Given the description of an element on the screen output the (x, y) to click on. 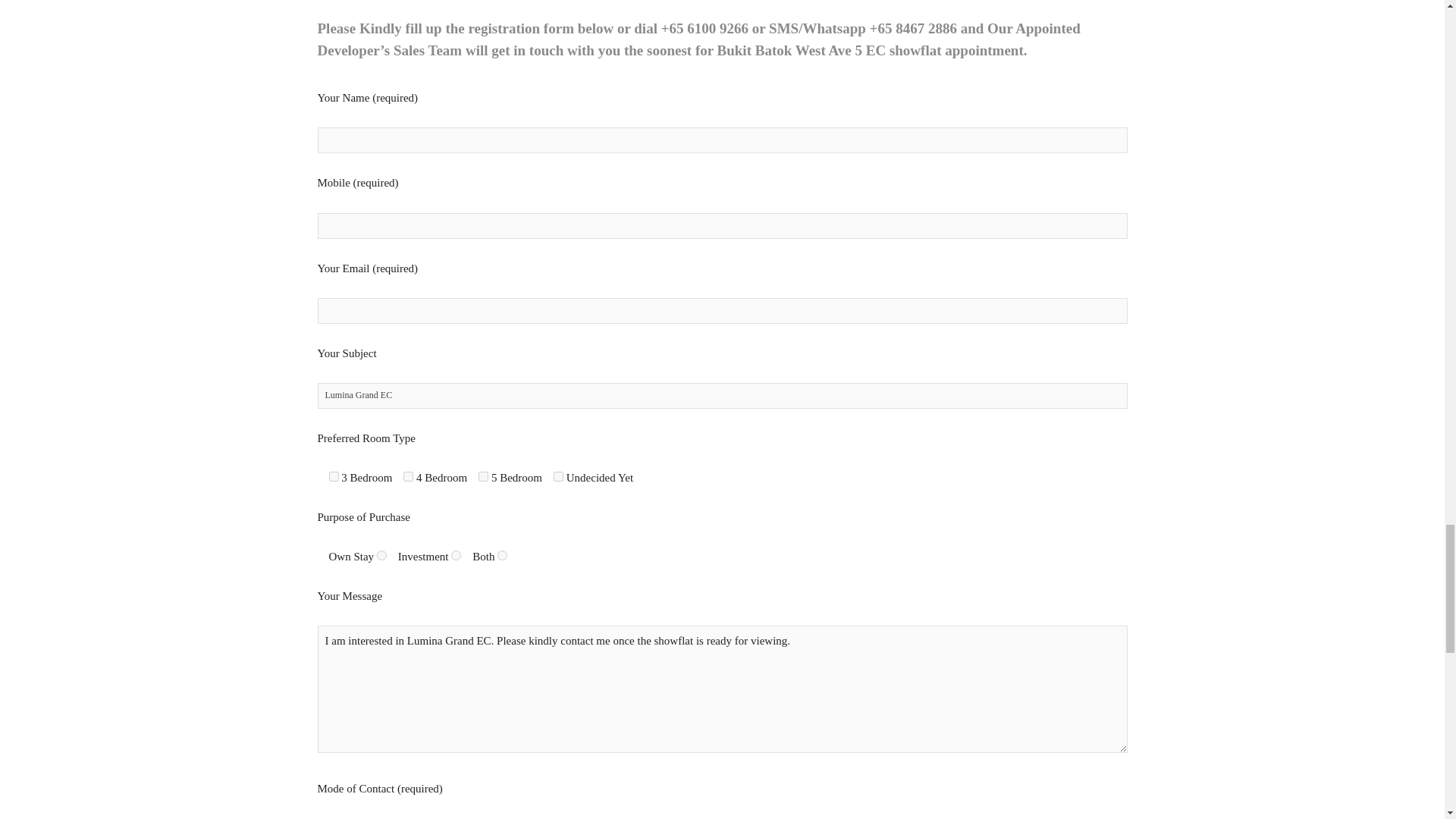
Own Stay (382, 555)
Lumina Grand EC (721, 395)
Undecided Yet (558, 476)
3 Bedroom (334, 476)
5 Bedroom (483, 476)
4 Bedroom (408, 476)
Both (501, 555)
Investment (456, 555)
